Given the description of an element on the screen output the (x, y) to click on. 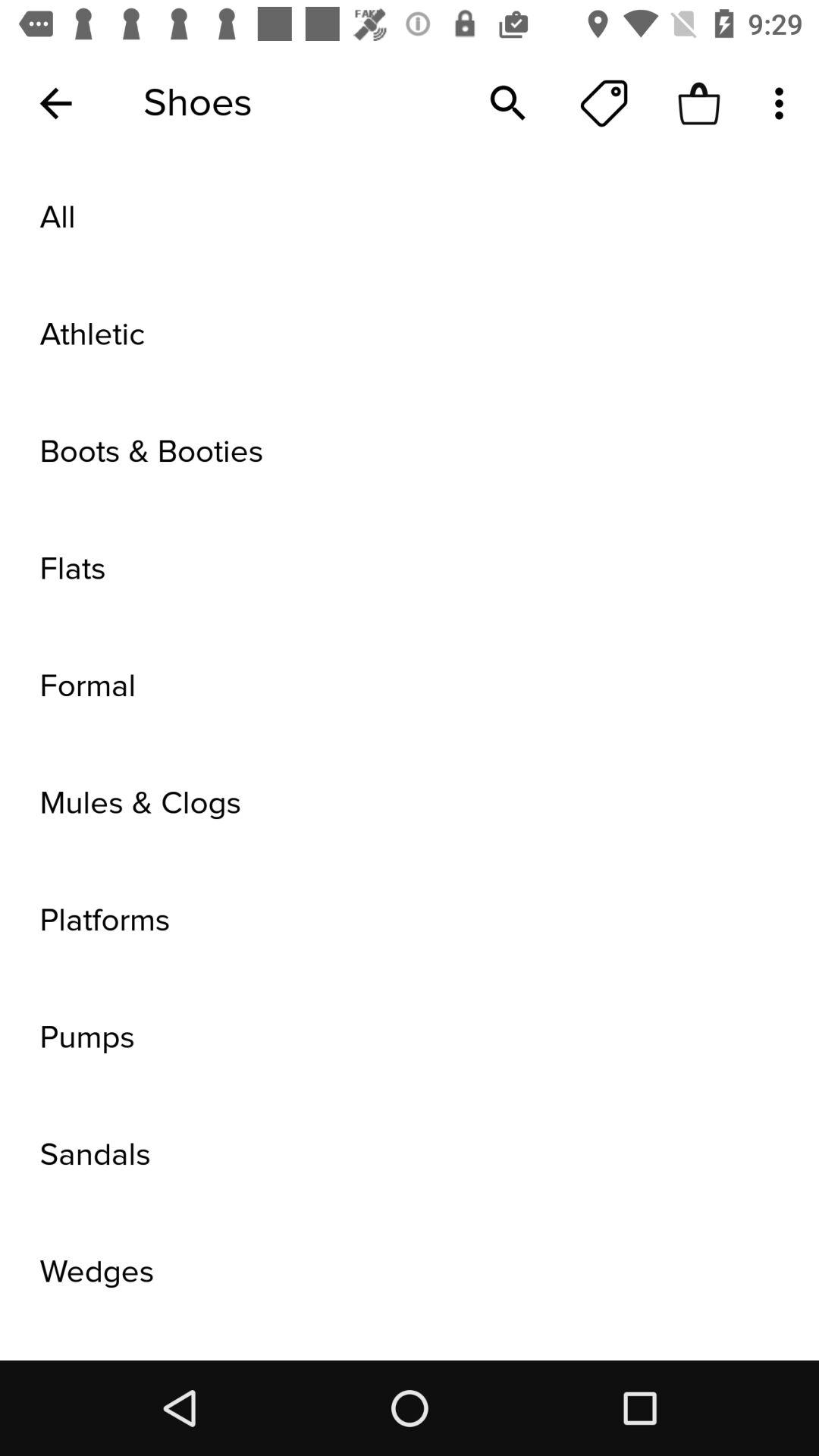
go back (55, 103)
